Given the description of an element on the screen output the (x, y) to click on. 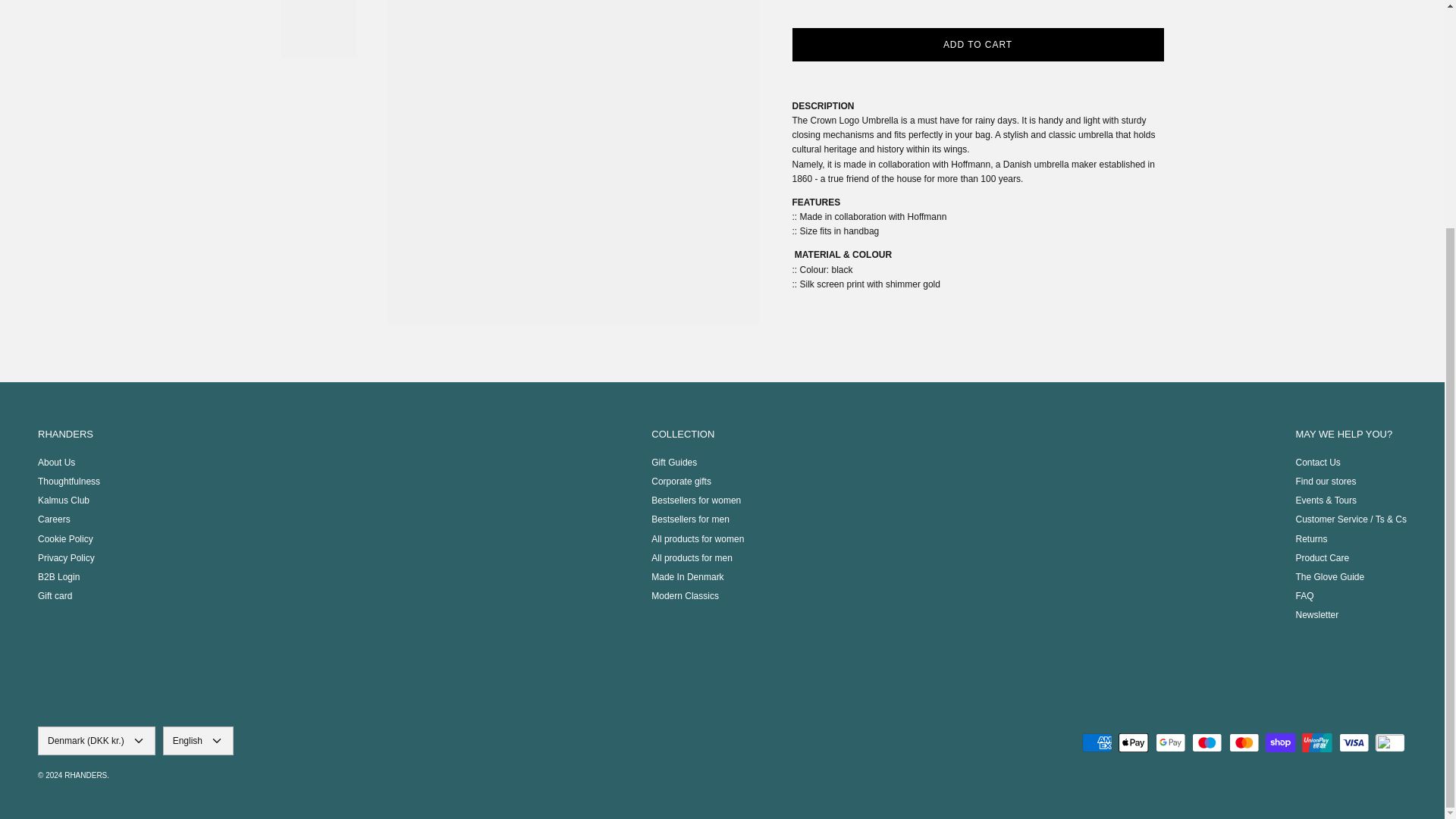
American Express (1096, 742)
Union Pay (1316, 742)
Visa (1353, 742)
Down (138, 740)
Apple Pay (1133, 742)
Down (216, 740)
Google Pay (1170, 742)
Mastercard (1243, 742)
Maestro (1206, 742)
Shop Pay (1280, 742)
